Given the description of an element on the screen output the (x, y) to click on. 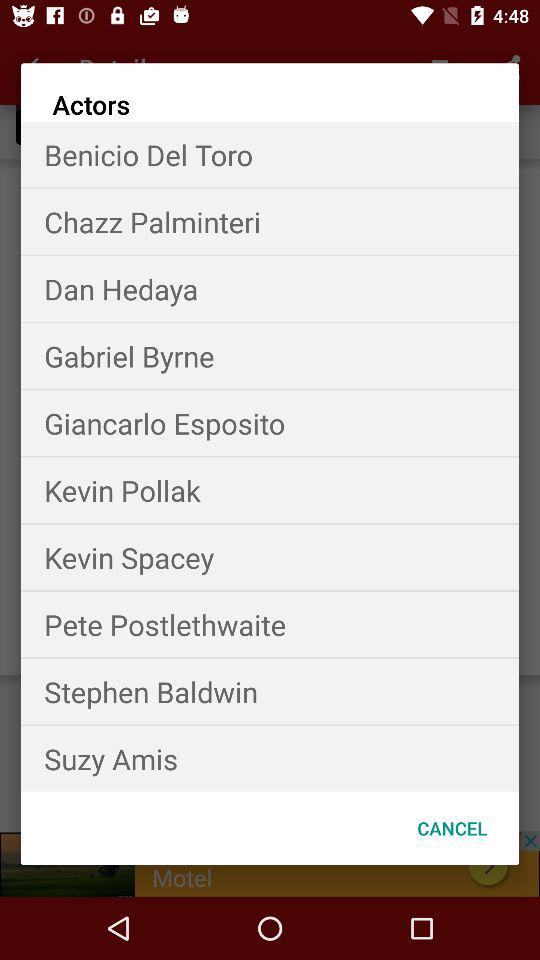
scroll to dan hedaya icon (269, 288)
